Given the description of an element on the screen output the (x, y) to click on. 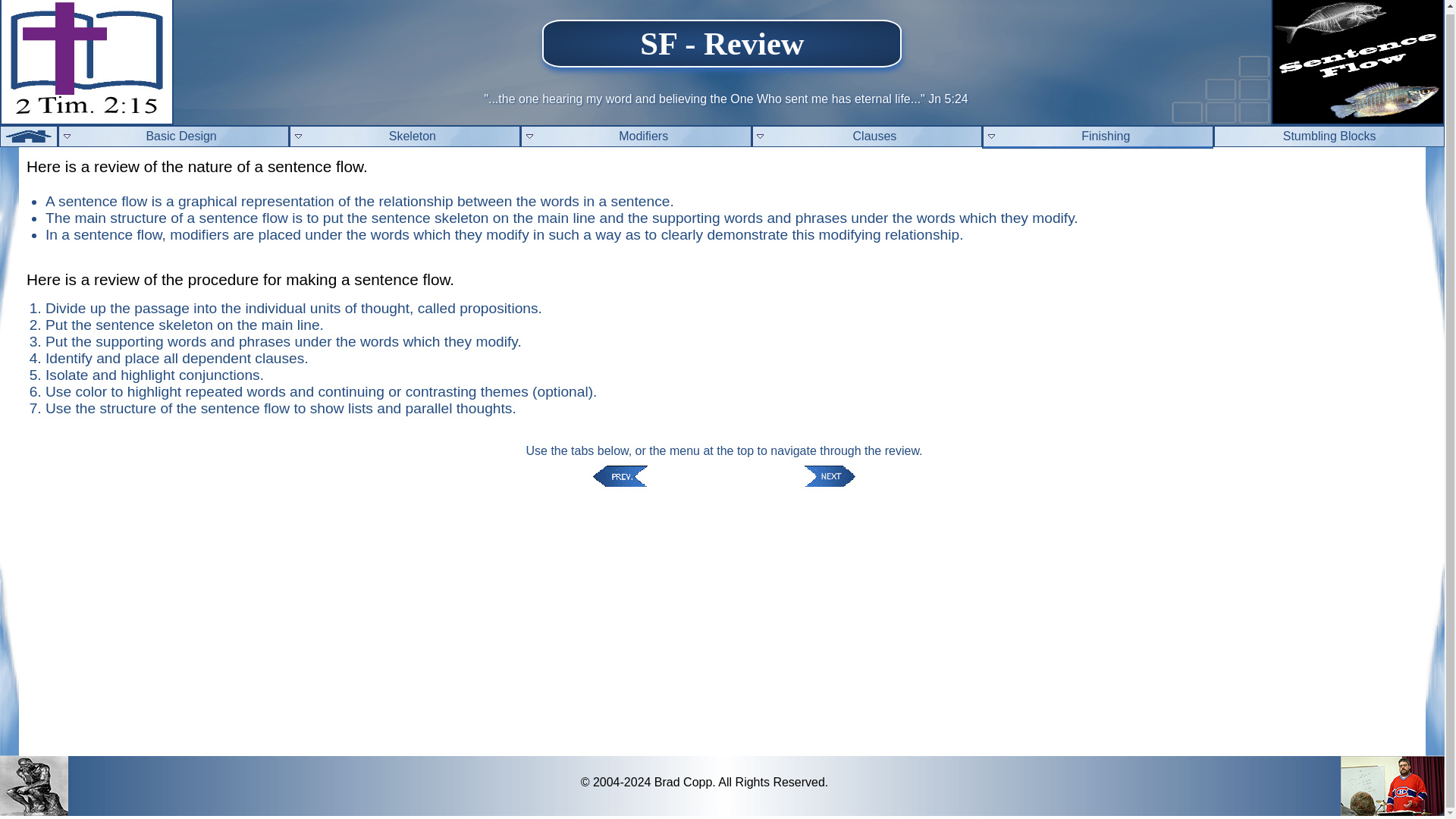
Stumbling Blocks (1329, 136)
